Given the description of an element on the screen output the (x, y) to click on. 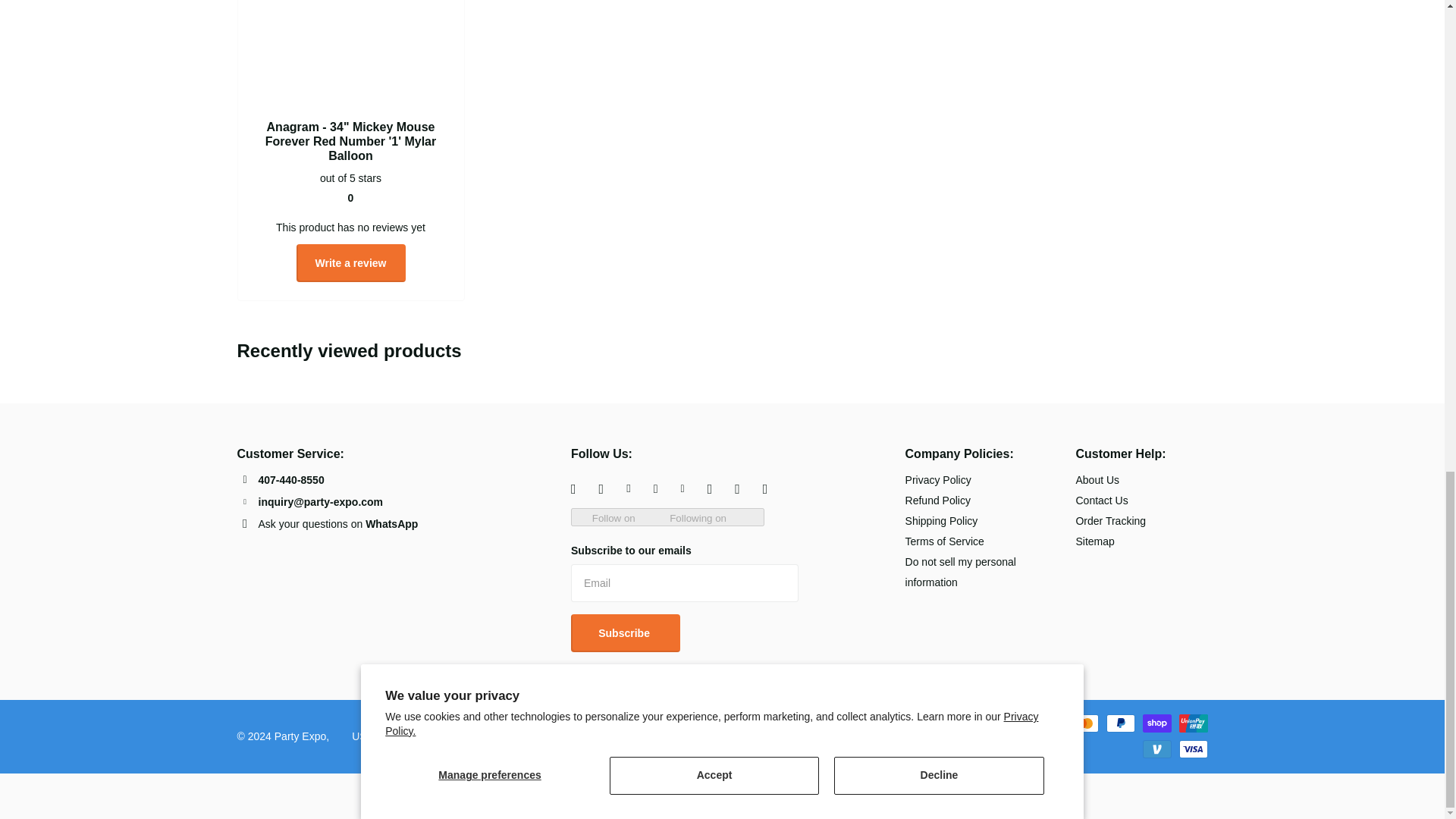
Discover (900, 723)
Visa (1192, 749)
About Us (1097, 480)
American Express (791, 723)
Sitemap (1094, 541)
Union Pay (1192, 723)
Contact Us (1100, 500)
Shipping Policy (941, 521)
Terms of Service (944, 541)
PayPal (1119, 723)
